Given the description of an element on the screen output the (x, y) to click on. 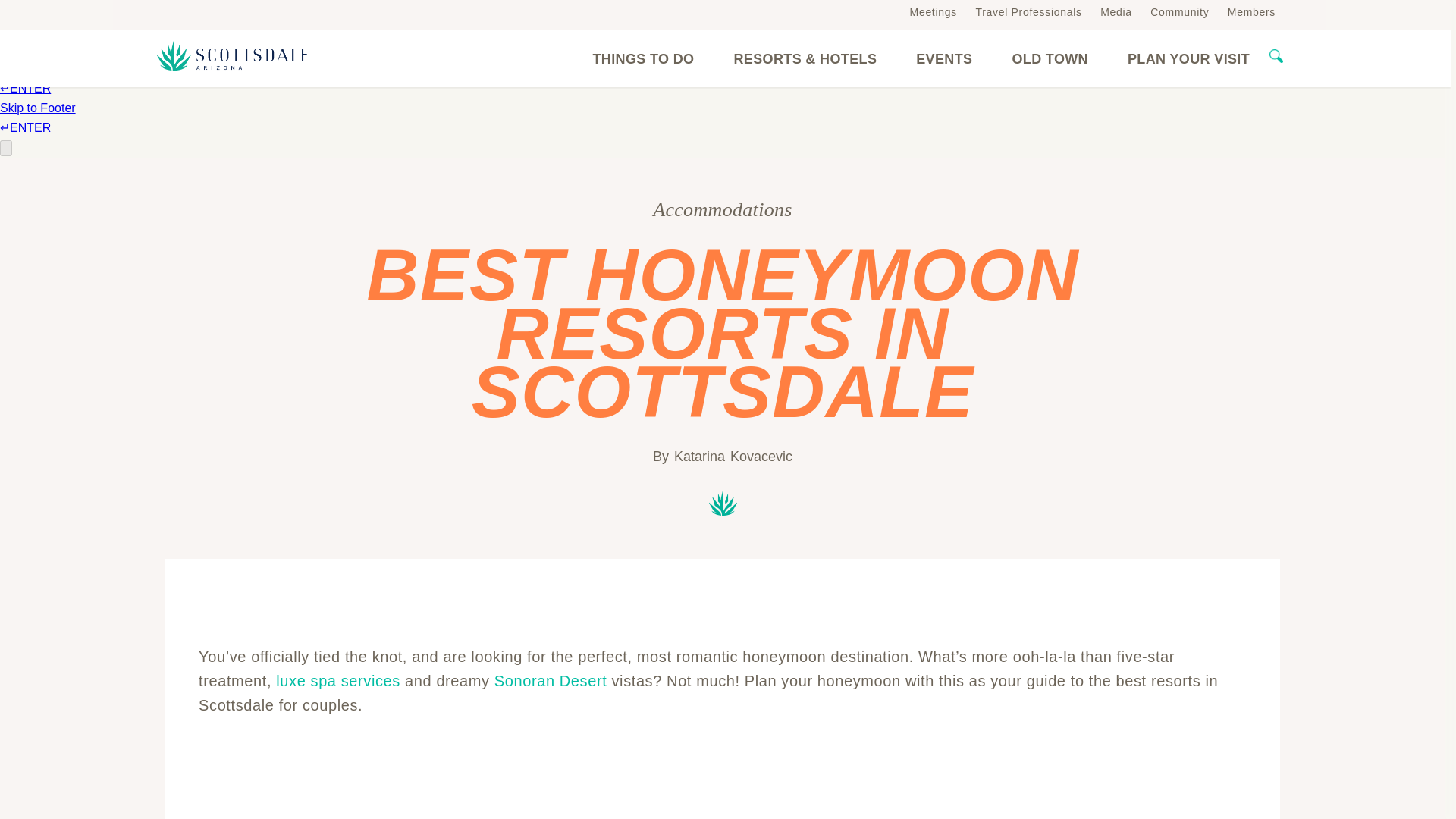
Travel Professionals (1028, 11)
Meetings (933, 11)
Meetings (933, 11)
